Given the description of an element on the screen output the (x, y) to click on. 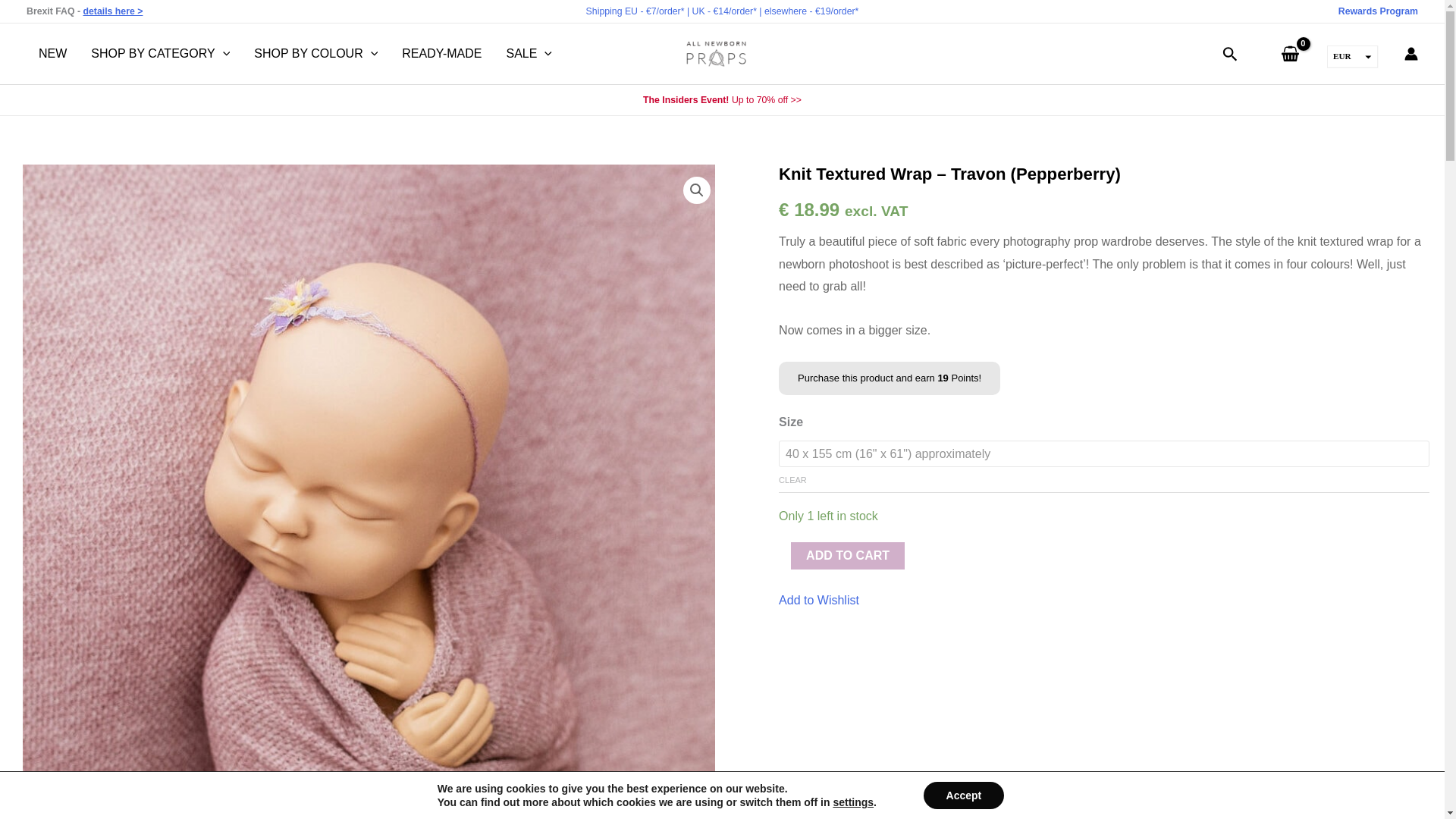
SHOP BY CATEGORY (159, 53)
Rewards Program (1378, 10)
SHOP BY COLOUR (315, 53)
